Given the description of an element on the screen output the (x, y) to click on. 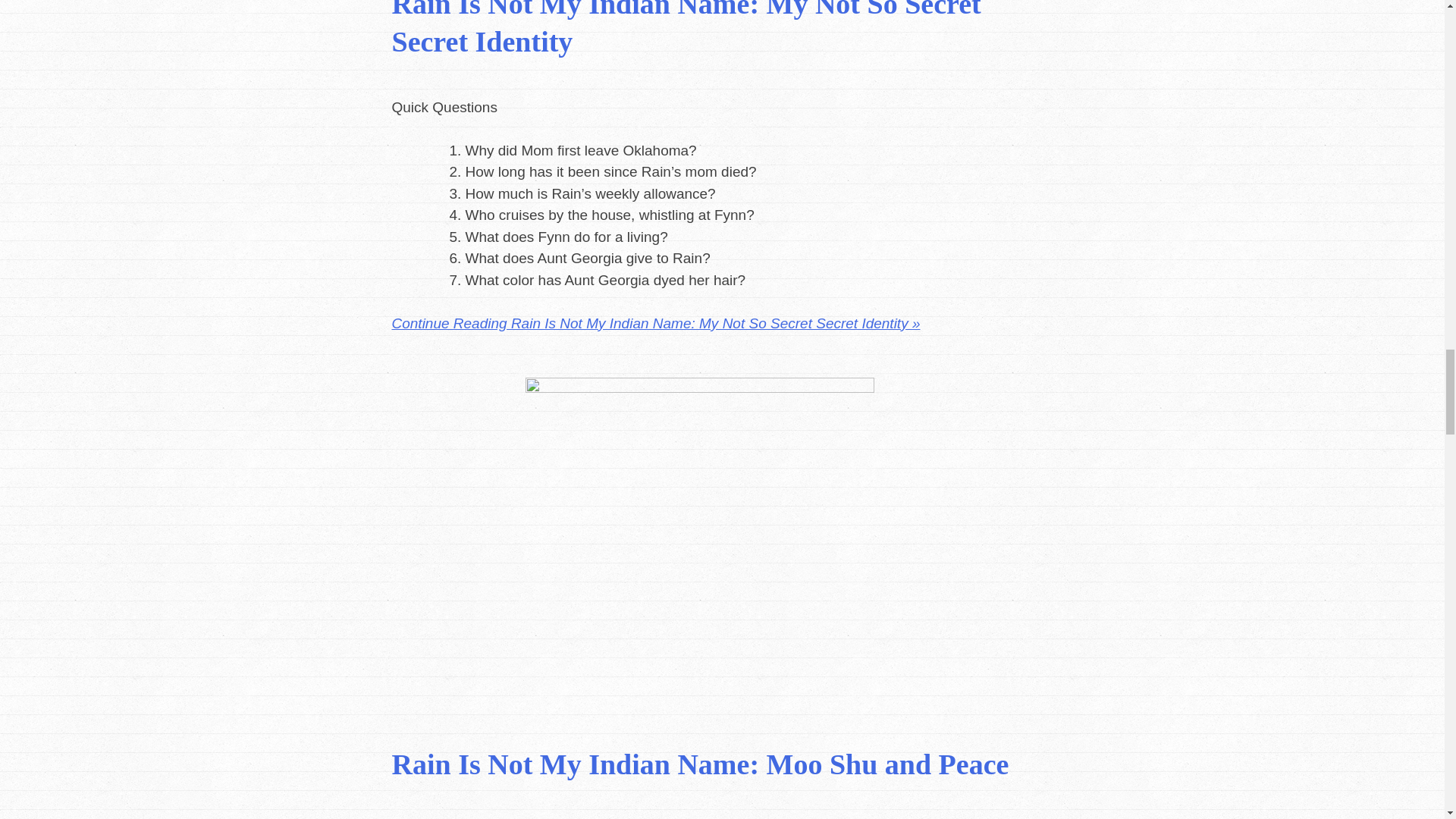
Rain Is Not My Indian Name: Moo Shu and Peace (700, 764)
Rain Is Not My Indian Name: My Not So Secret Secret Identity (685, 28)
